Given the description of an element on the screen output the (x, y) to click on. 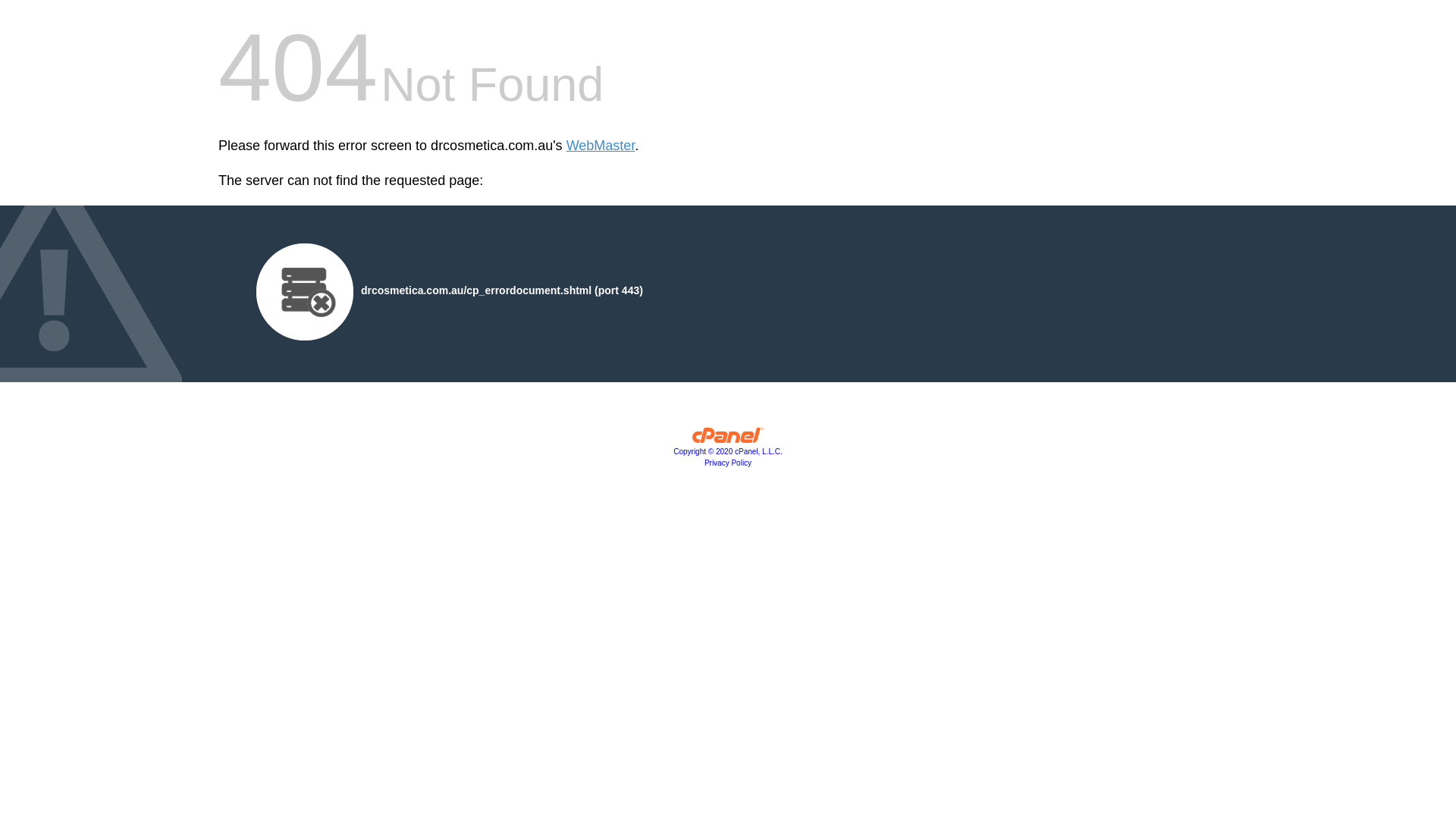
WebMaster Element type: text (600, 145)
Privacy Policy Element type: text (727, 462)
cPanel, Inc. Element type: hover (728, 439)
